Given the description of an element on the screen output the (x, y) to click on. 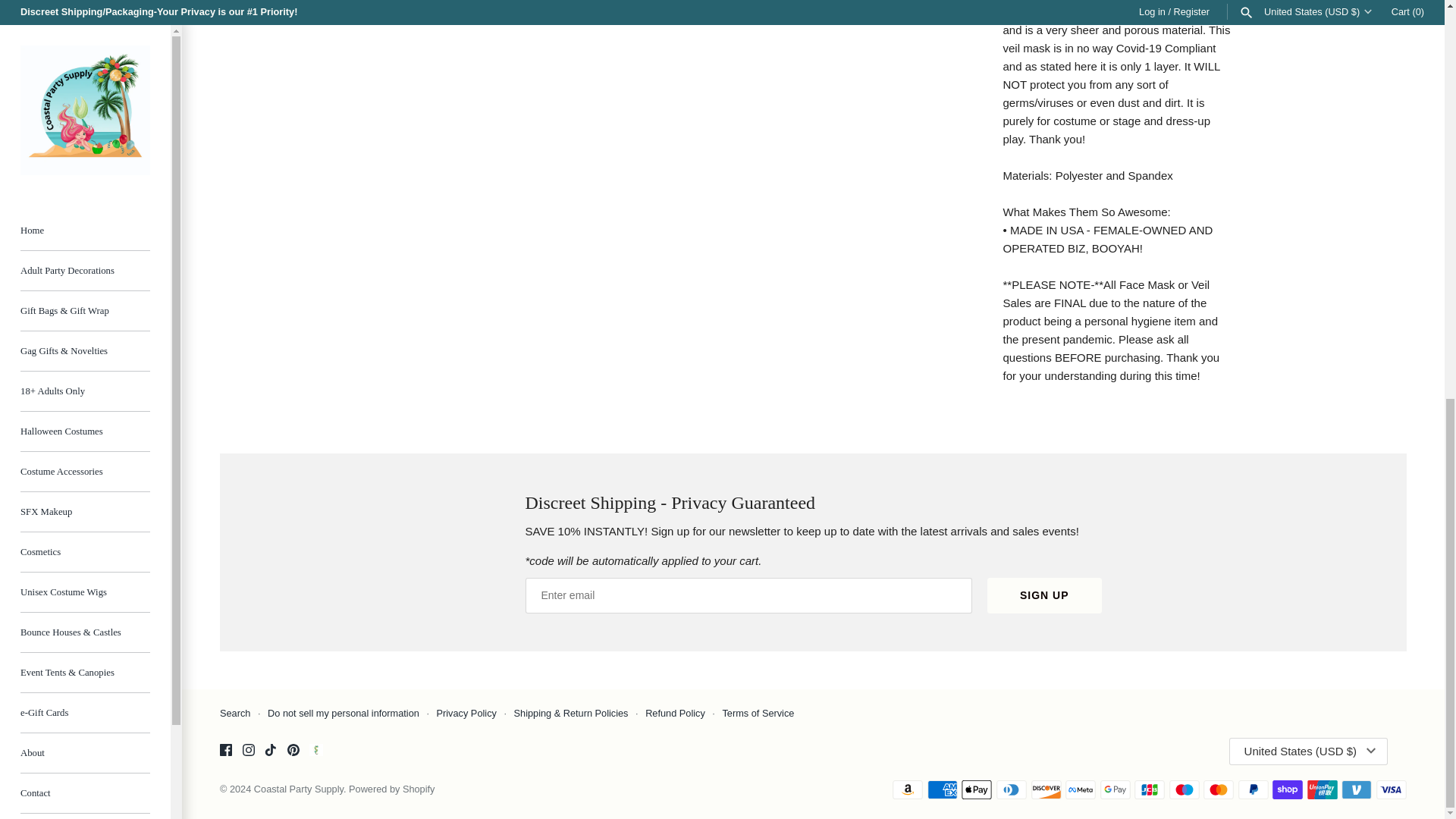
Mastercard (1218, 789)
Shop Pay (1287, 789)
Union Pay (1322, 789)
Amazon (907, 789)
Maestro (1184, 789)
Apple Pay (975, 789)
Facebook (225, 749)
JCB (1149, 789)
Meta Pay (1080, 789)
Pinterest (292, 749)
